Given the description of an element on the screen output the (x, y) to click on. 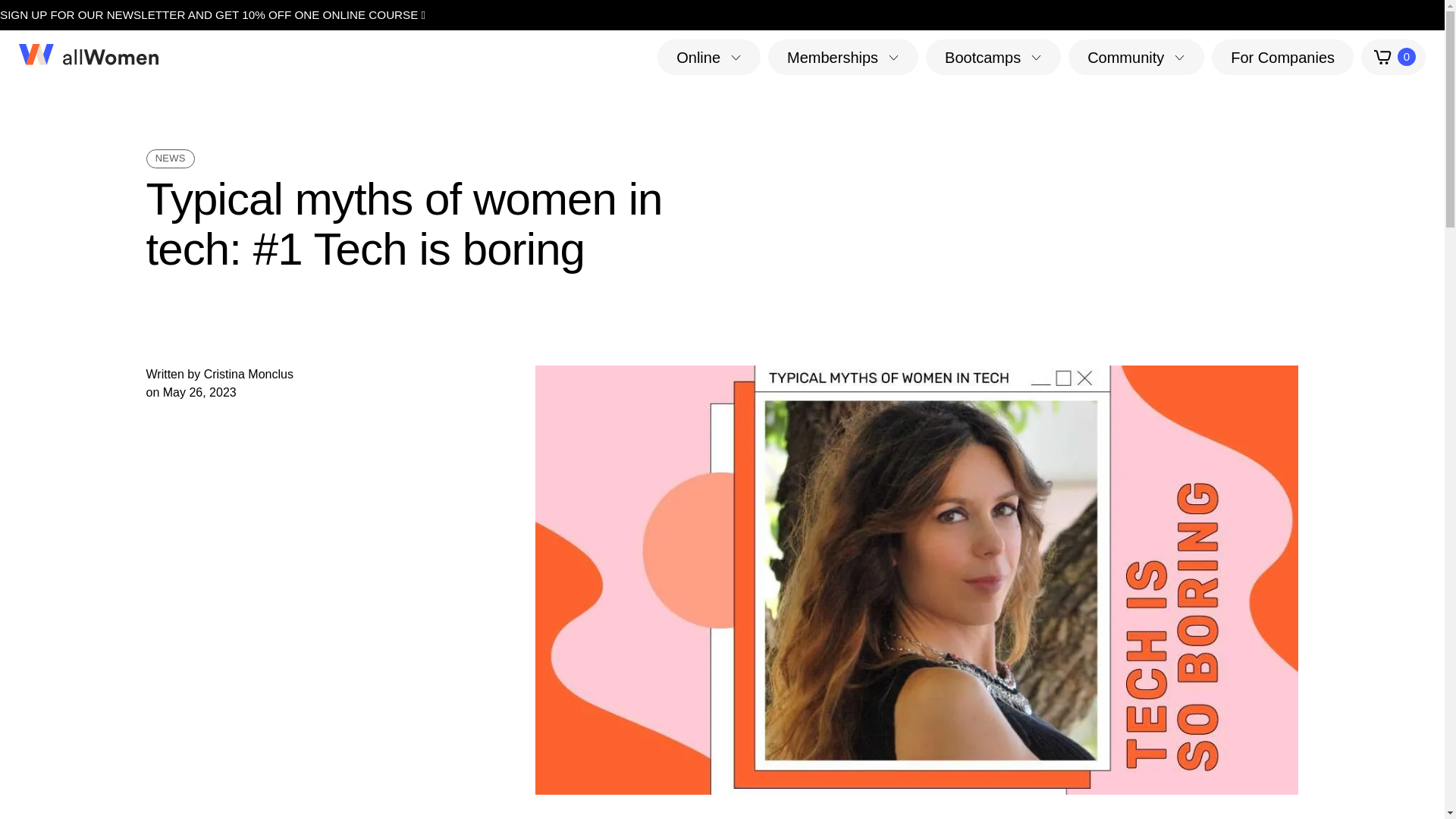
Bootcamps (993, 56)
Memberships (843, 56)
Community (1136, 56)
Online (709, 56)
0 (1393, 57)
Memberships (843, 56)
Bootcamps (993, 56)
Cristina Monclus (248, 373)
Online (709, 56)
For Companies (1282, 56)
